Given the description of an element on the screen output the (x, y) to click on. 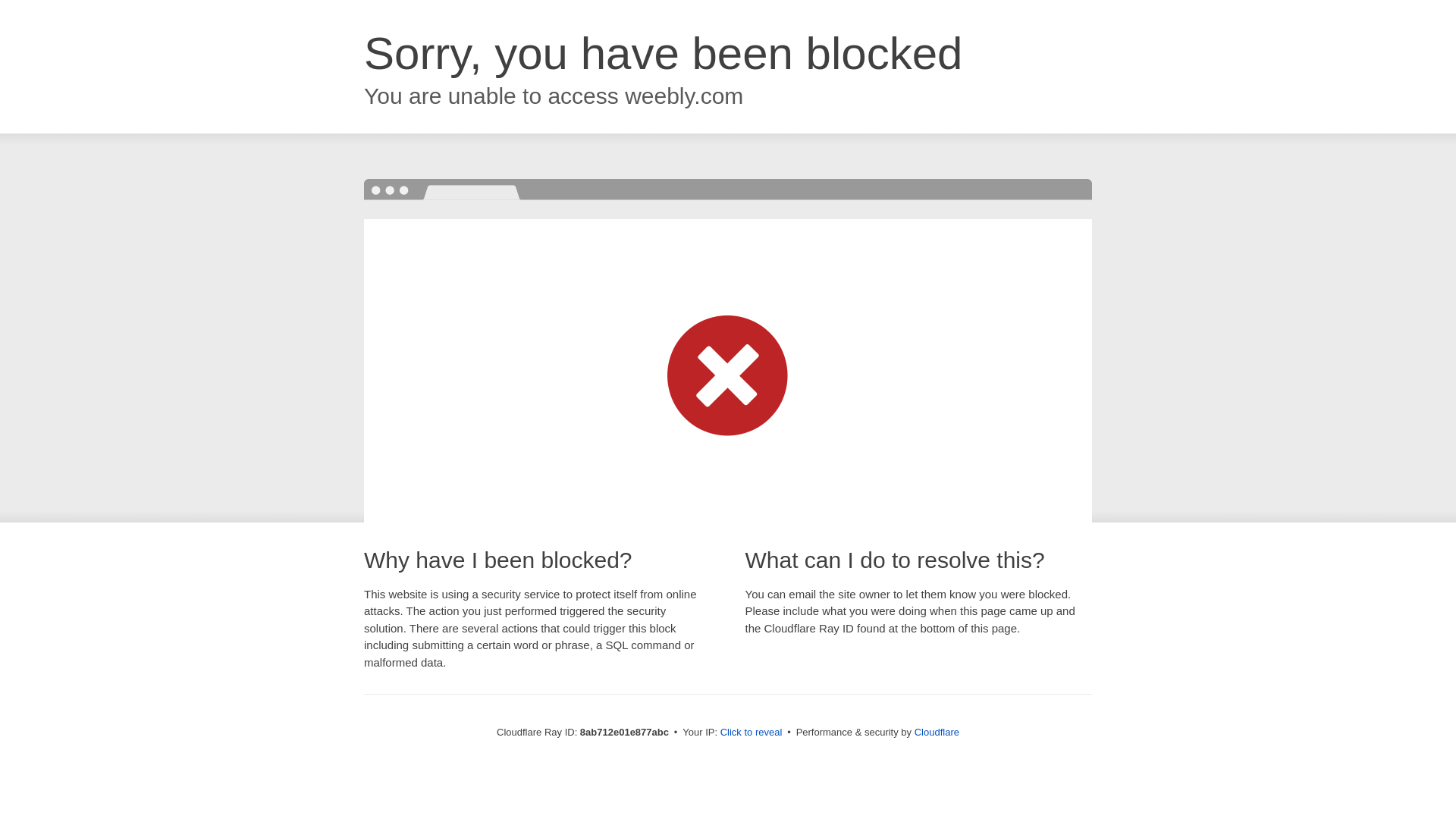
Click to reveal (751, 732)
Cloudflare (936, 731)
